Given the description of an element on the screen output the (x, y) to click on. 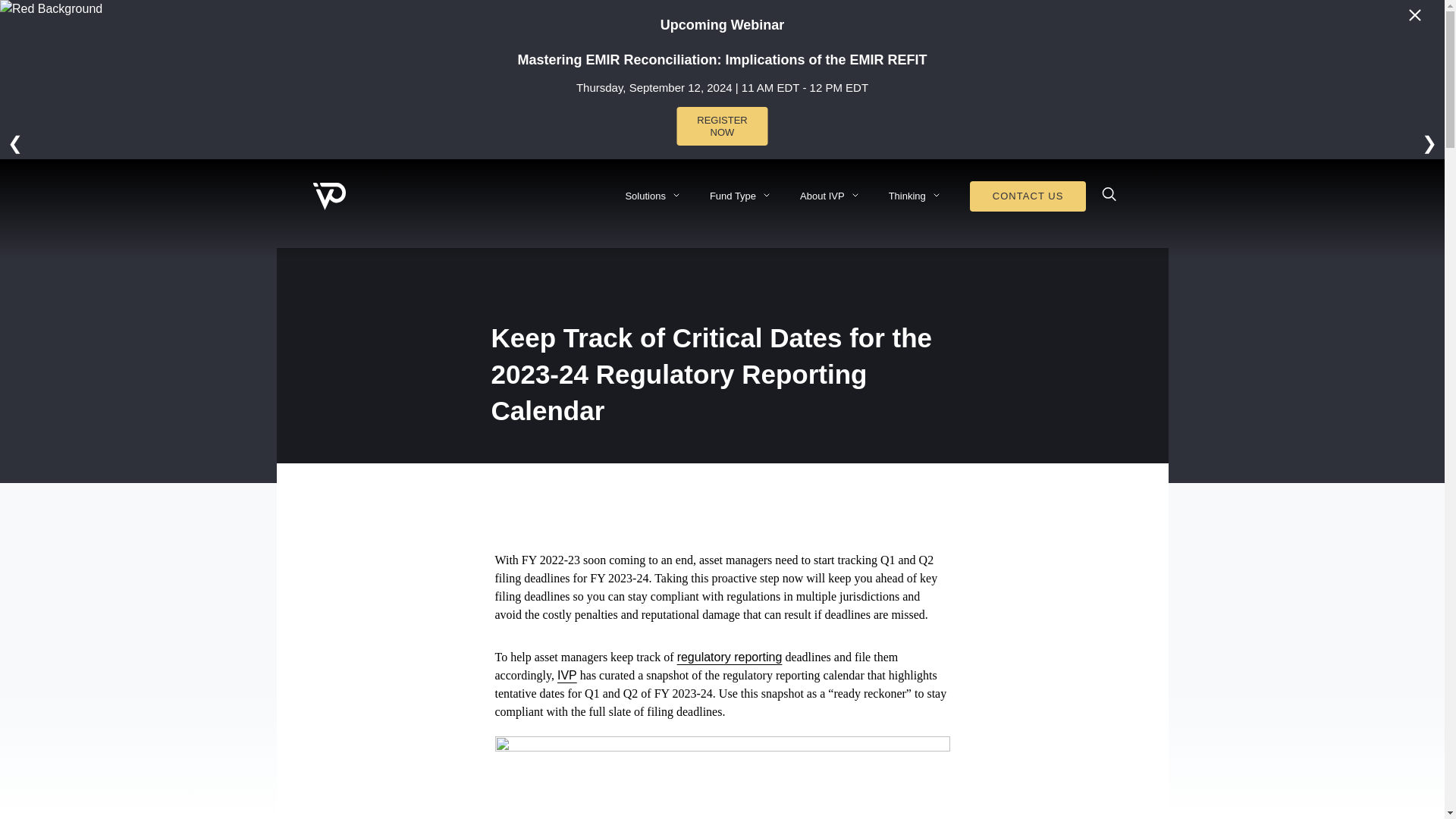
REGISTER NOW (722, 126)
IVP (566, 675)
Solutions (644, 195)
CONTACT US (1027, 196)
Thinking (907, 195)
Fund Type (732, 195)
regulatory reporting (730, 656)
About IVP (821, 195)
